Given the description of an element on the screen output the (x, y) to click on. 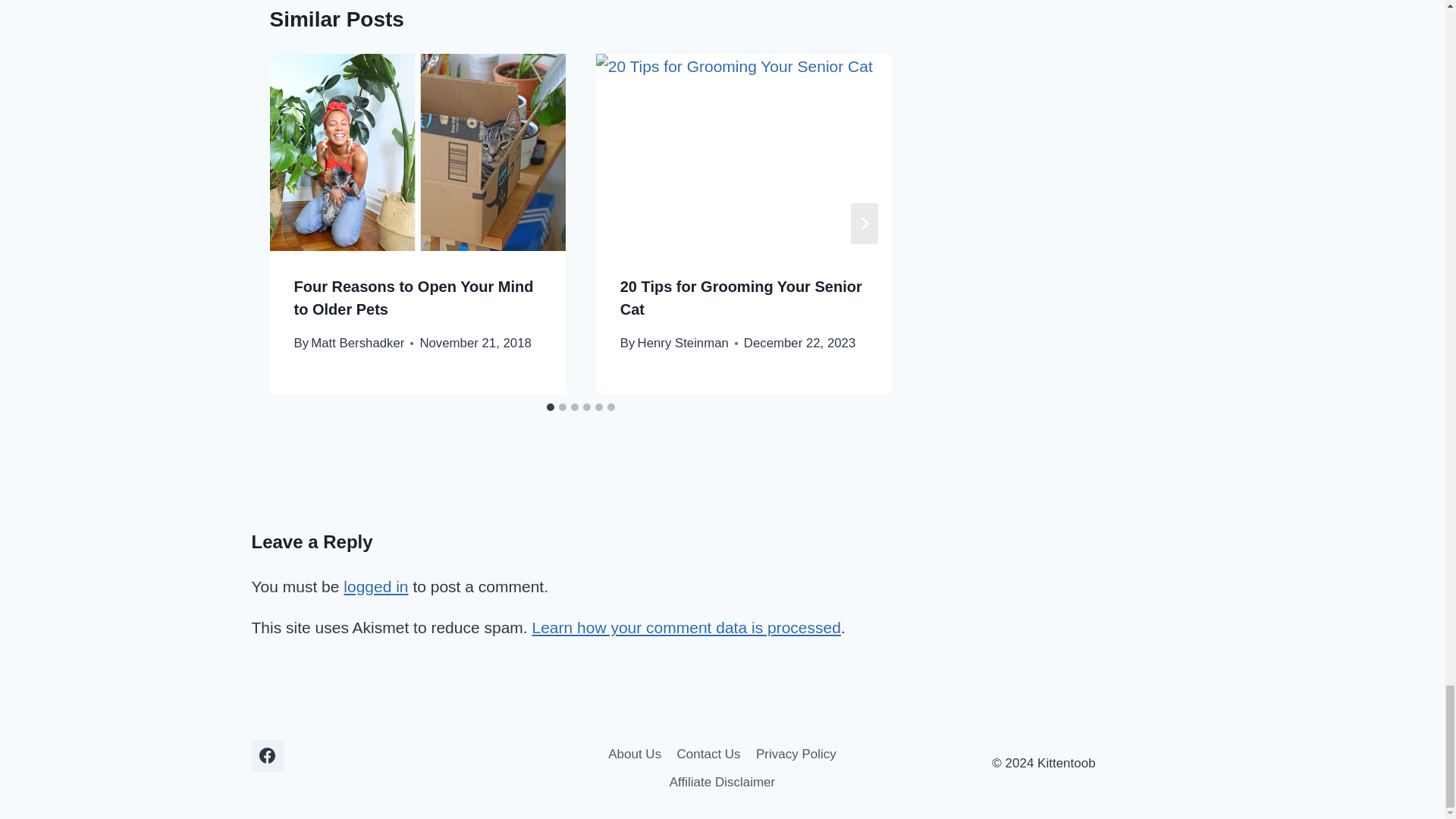
20 Tips for Grooming Your Senior Cat (740, 297)
Matt Bershadker (357, 342)
Henry Steinman (683, 342)
Four Reasons to Open Your Mind to Older Pets (414, 297)
